Given the description of an element on the screen output the (x, y) to click on. 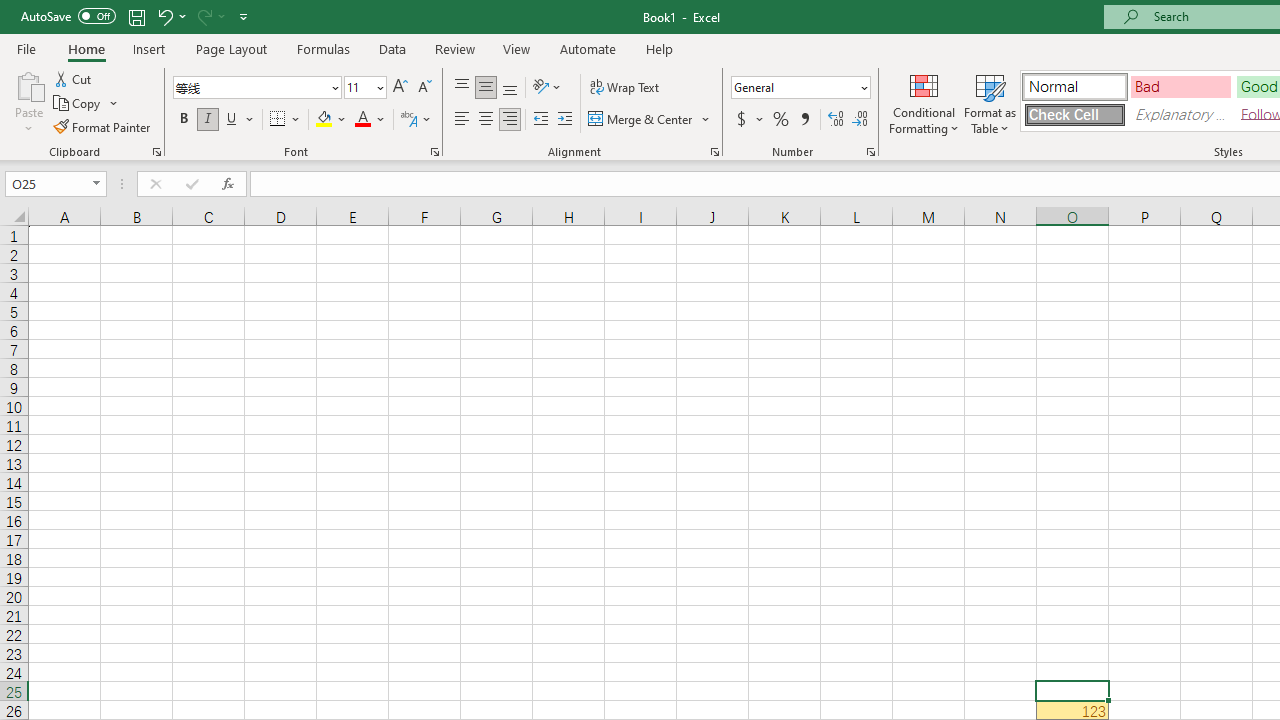
Increase Indent (565, 119)
Middle Align (485, 87)
Office Clipboard... (156, 151)
Italic (207, 119)
Font (256, 87)
Show Phonetic Field (408, 119)
Bold (183, 119)
Bottom Border (278, 119)
Conditional Formatting (924, 102)
Bottom Align (509, 87)
